Given the description of an element on the screen output the (x, y) to click on. 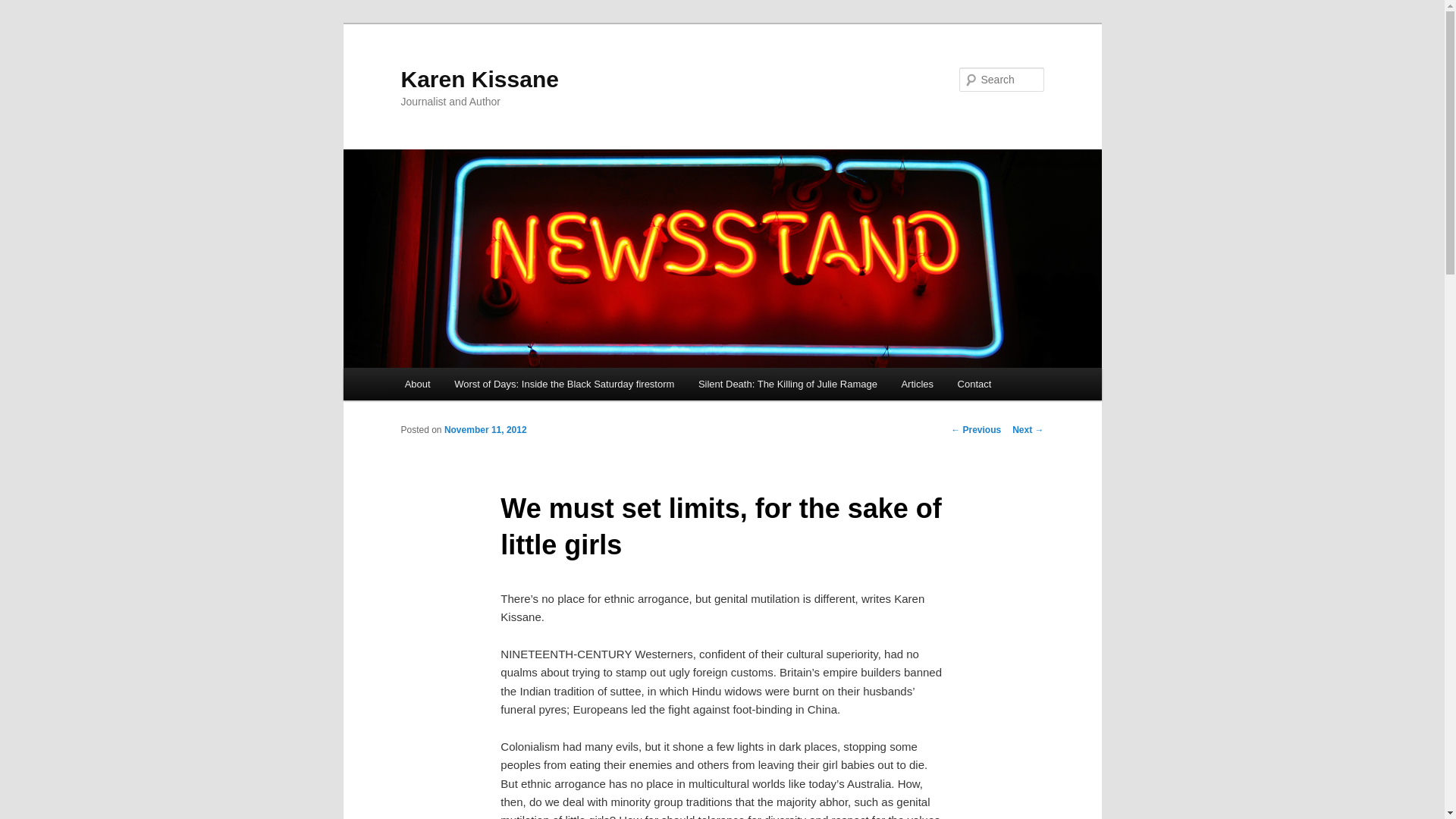
Search (24, 8)
About (417, 383)
Contact (973, 383)
Articles (916, 383)
Karen Kissane (478, 78)
2:31 am (485, 429)
Silent Death: The Killing of Julie Ramage (787, 383)
November 11, 2012 (485, 429)
Worst of Days: Inside the Black Saturday firestorm (563, 383)
